Given the description of an element on the screen output the (x, y) to click on. 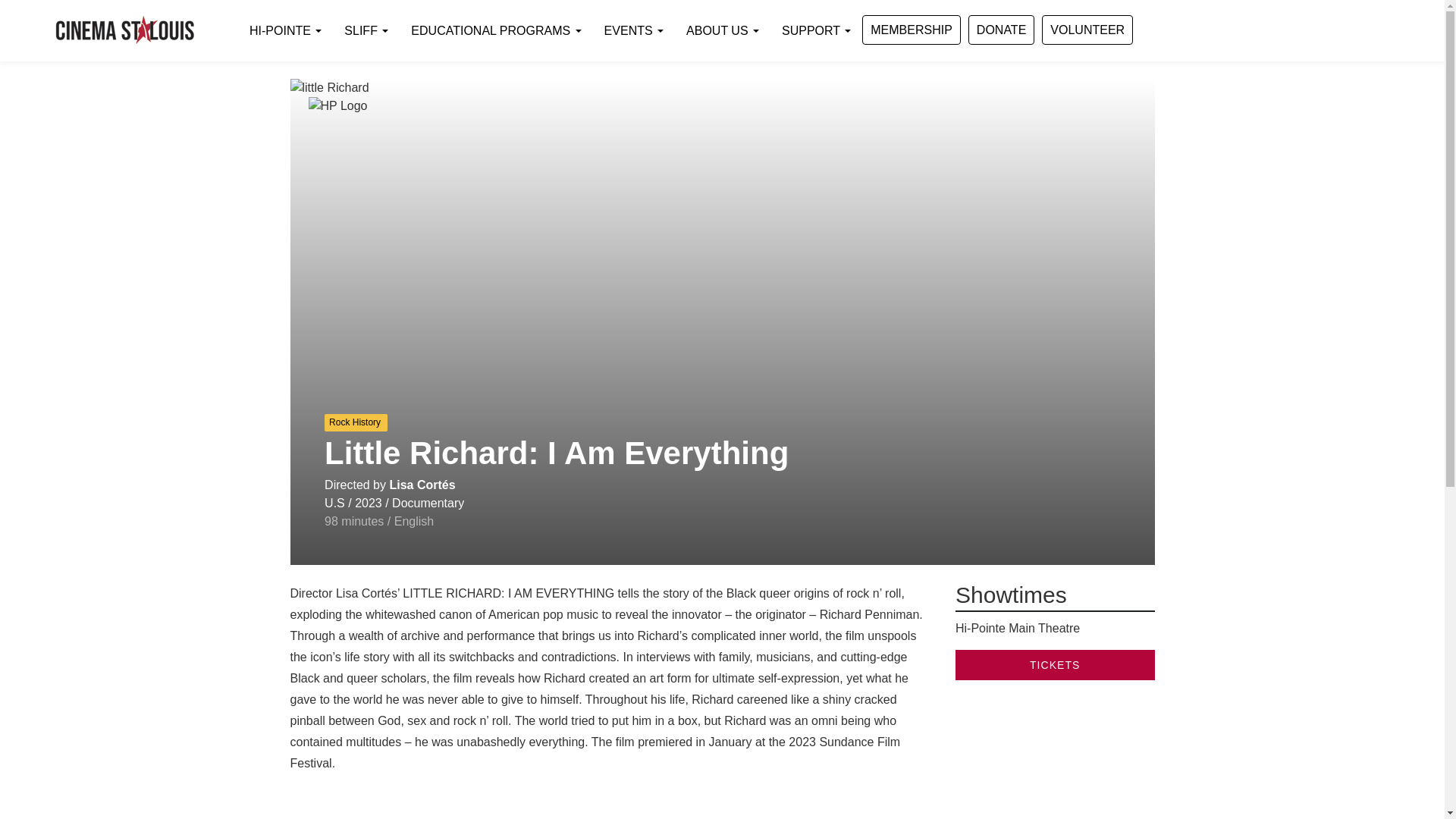
SLIFF (365, 30)
SUPPORT (815, 30)
ABOUT US (722, 30)
EVENTS (633, 30)
Home (125, 30)
EDUCATIONAL PROGRAMS (495, 30)
HI-POINTE (285, 30)
MEMBERSHIP (910, 30)
